Given the description of an element on the screen output the (x, y) to click on. 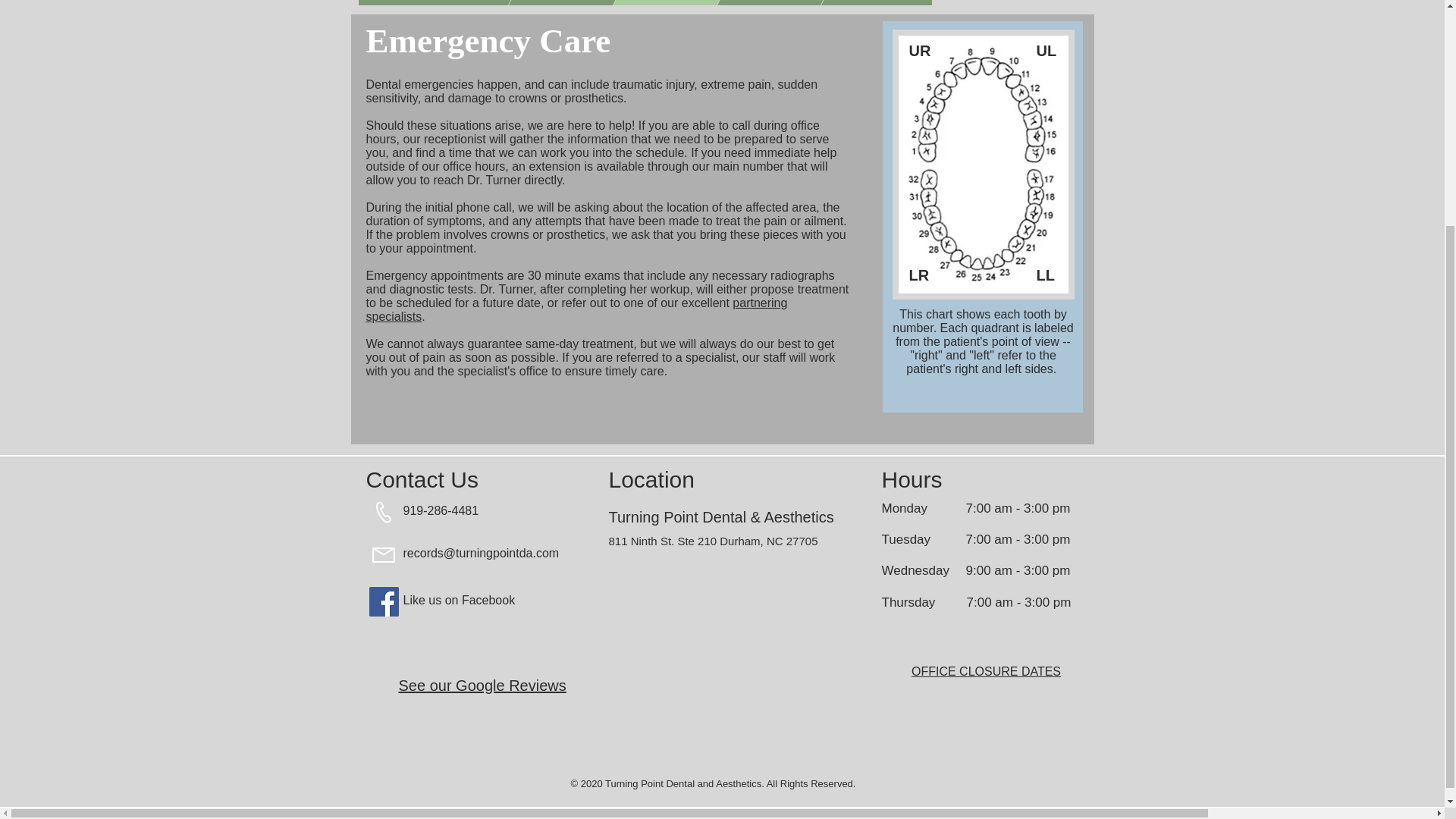
Contact Us (852, 2)
Services (645, 2)
Home (436, 2)
About Us (541, 2)
Post Op Care (749, 2)
OFFICE CLOSURE DATES (986, 671)
partnering specialists (576, 309)
See our Google Reviews (482, 685)
